Given the description of an element on the screen output the (x, y) to click on. 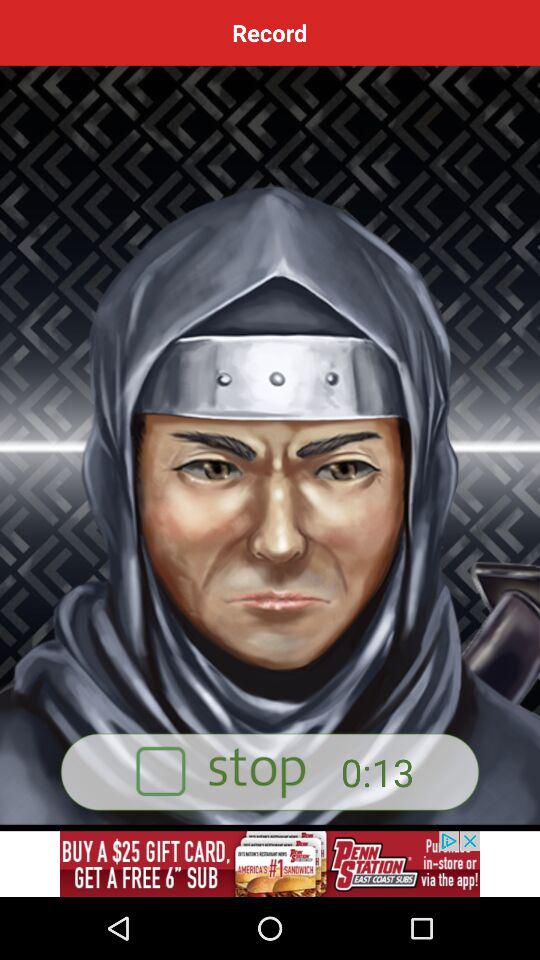
stop recording (270, 771)
